Given the description of an element on the screen output the (x, y) to click on. 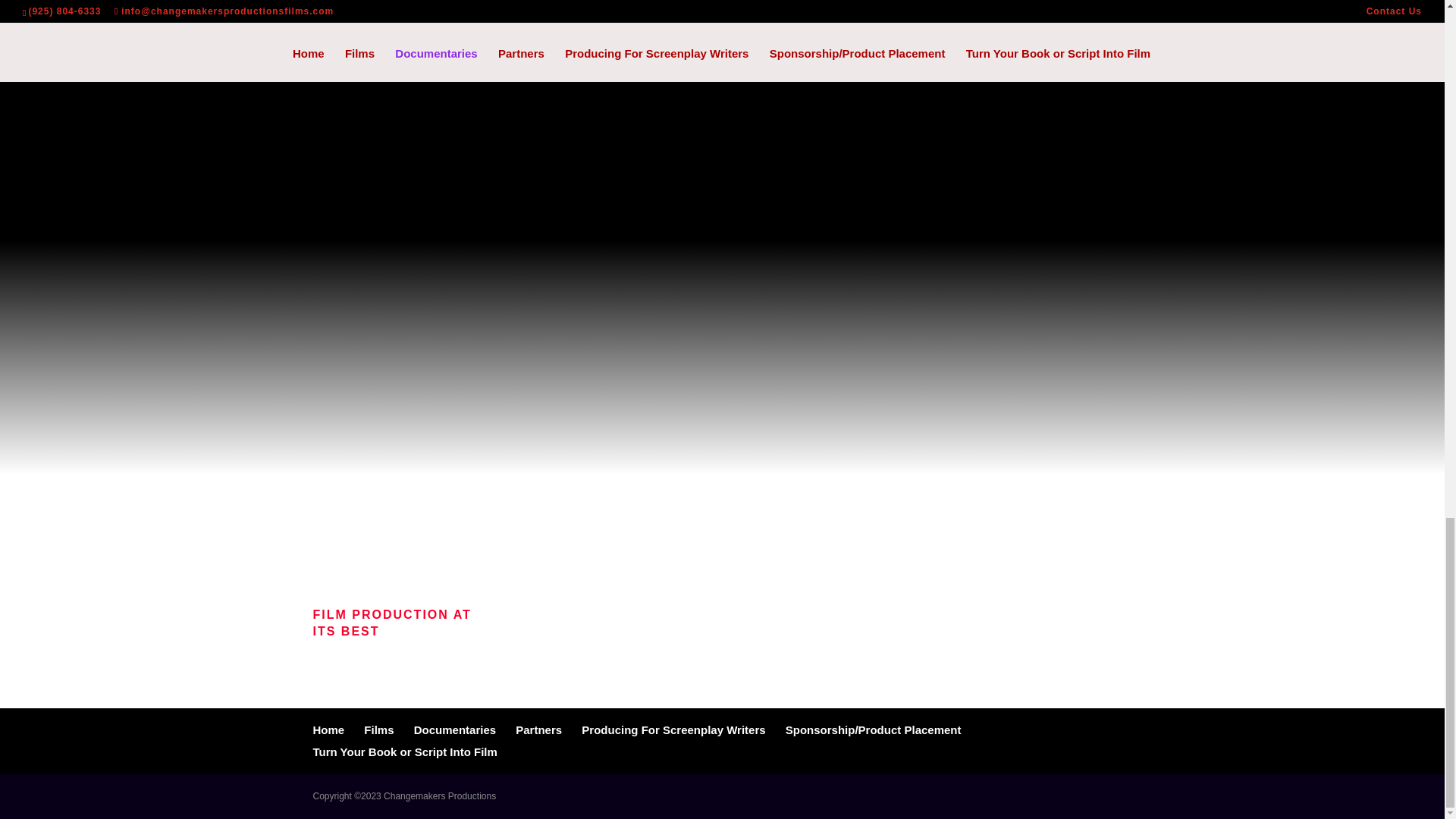
Films (378, 729)
Turn Your Book or Script Into Film (404, 751)
Producing For Screenplay Writers (672, 729)
Partners (538, 729)
Documentaries (454, 729)
Home (328, 729)
